Given the description of an element on the screen output the (x, y) to click on. 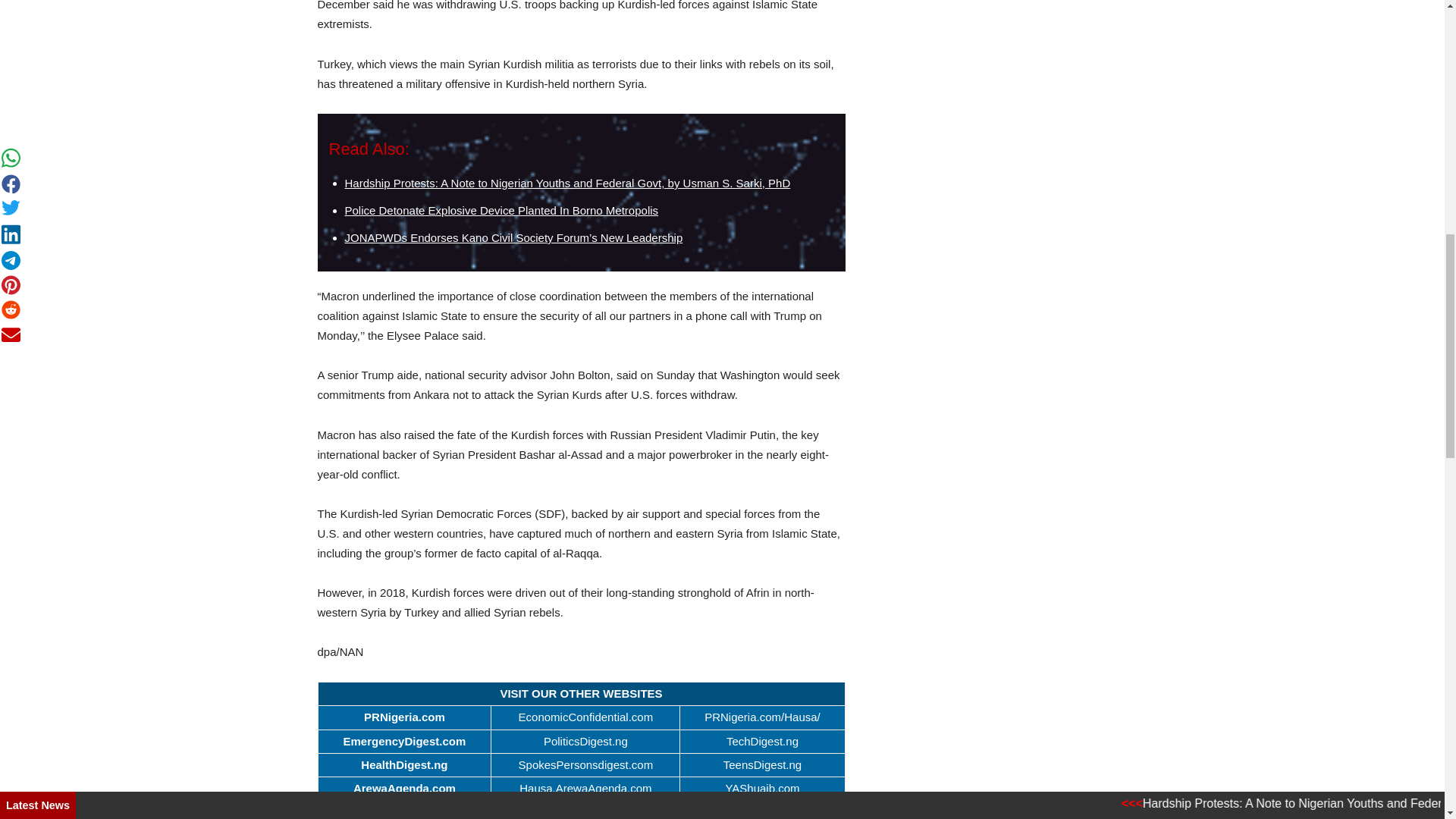
Police Detonate Explosive Device Planted In Borno Metropolis (500, 210)
